Given the description of an element on the screen output the (x, y) to click on. 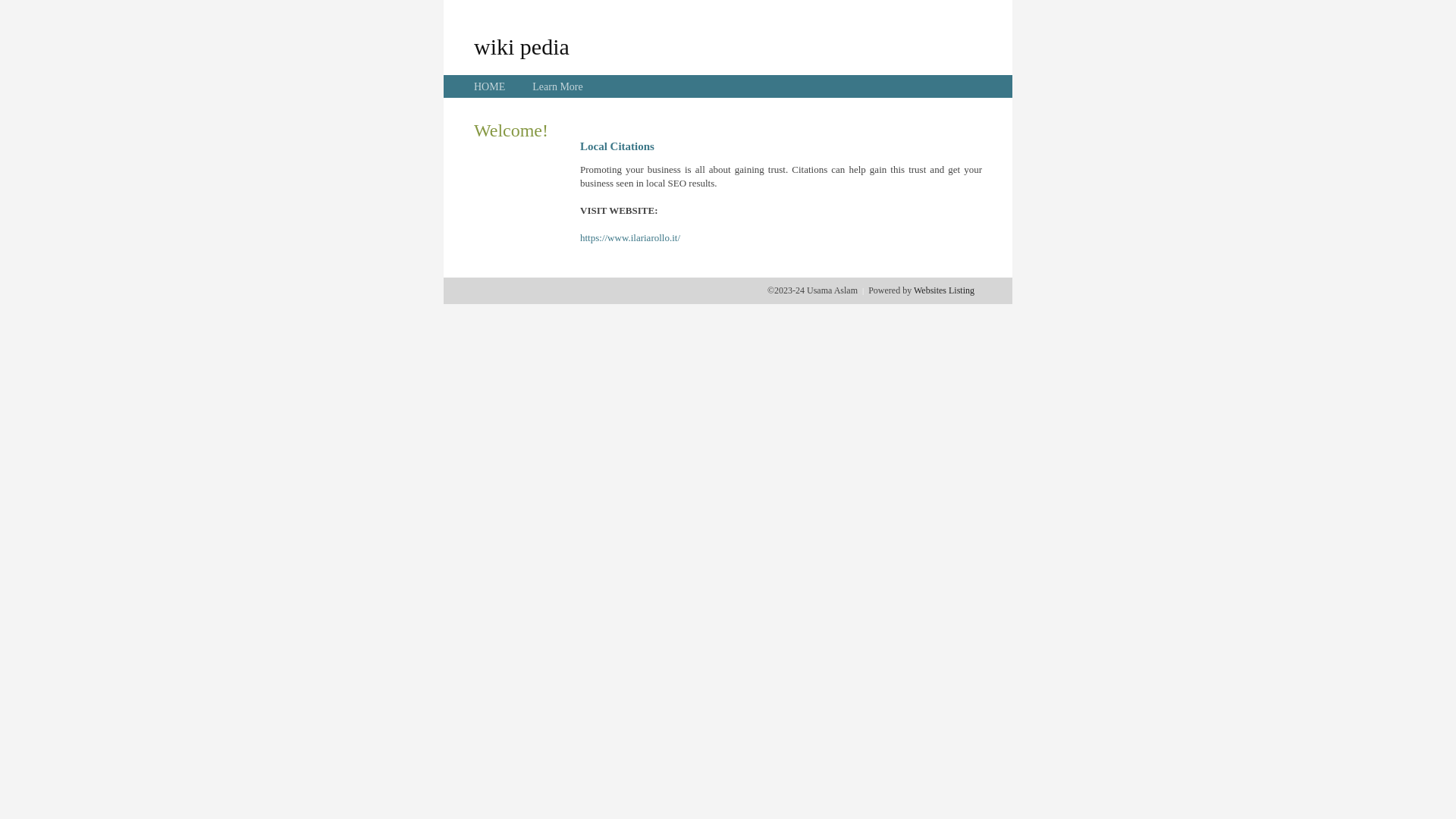
HOME Element type: text (489, 86)
https://www.ilariarollo.it/ Element type: text (630, 237)
Websites Listing Element type: text (943, 290)
wiki pedia Element type: text (521, 46)
Learn More Element type: text (557, 86)
